Given the description of an element on the screen output the (x, y) to click on. 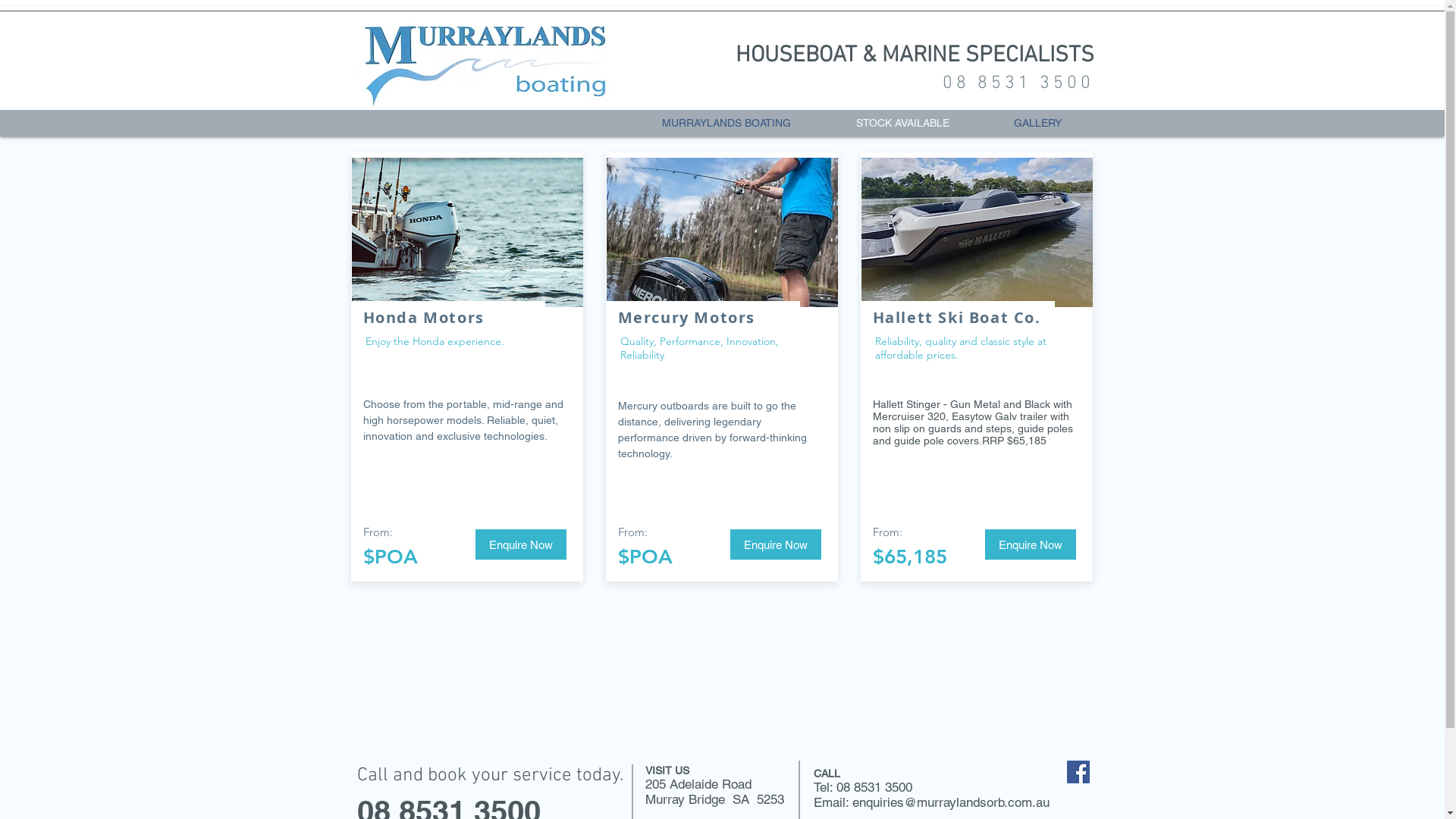
MURRAYLANDS BOATING Element type: text (726, 123)
Enquire Now Element type: text (519, 544)
Enquire Now Element type: text (1029, 544)
STOCK AVAILABLE Element type: text (902, 123)
Enquire Now Element type: text (774, 544)
enquiries@murraylandsorb.com.au Element type: text (950, 801)
GALLERY Element type: text (1037, 123)
